Given the description of an element on the screen output the (x, y) to click on. 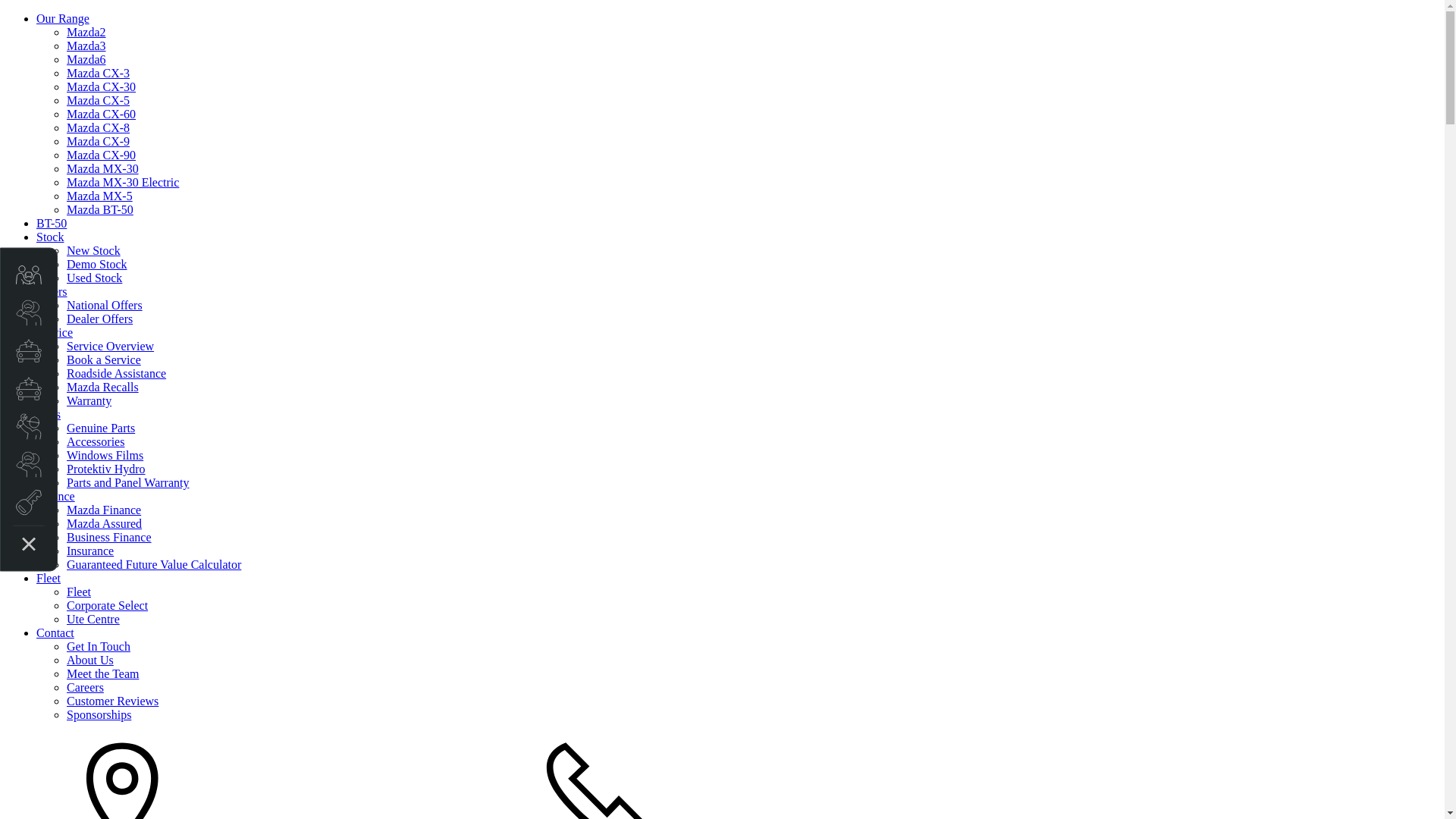
Demo Stock Element type: text (96, 263)
Roadside Assistance Element type: text (116, 373)
Warranty Element type: text (88, 400)
New Stock Element type: text (93, 250)
Mazda MX-30 Electric Element type: text (122, 181)
Customer Reviews Element type: text (112, 700)
Mazda BT-50 Element type: text (99, 209)
Careers Element type: text (84, 686)
Contact Element type: text (55, 632)
Windows Films Element type: text (104, 454)
Service Element type: text (54, 332)
Meet the Team Element type: text (102, 673)
Sponsorships Element type: text (98, 714)
Mazda2 Element type: text (86, 31)
Mazda CX-5 Element type: text (97, 100)
Mazda CX-30 Element type: text (100, 86)
Book a Service Element type: text (103, 359)
Genuine Parts Element type: text (100, 427)
Dealer Offers Element type: text (99, 318)
Finance Element type: text (55, 495)
Used Stock Element type: text (94, 277)
Fleet Element type: text (78, 591)
Stock Element type: text (49, 236)
Insurance Element type: text (89, 550)
Mazda CX-90 Element type: text (100, 154)
Offers Element type: text (51, 291)
Mazda Finance Element type: text (103, 509)
Mazda MX-5 Element type: text (99, 195)
Mazda Recalls Element type: text (102, 386)
Mazda6 Element type: text (86, 59)
Accessories Element type: text (95, 441)
Fleet Element type: text (48, 577)
Our Range Element type: text (62, 18)
Mazda3 Element type: text (86, 45)
Mazda Assured Element type: text (103, 523)
Parts and Panel Warranty Element type: text (127, 482)
Parts Element type: text (48, 413)
About Us Element type: text (89, 659)
Mazda MX-30 Element type: text (102, 168)
Mazda CX-3 Element type: text (97, 72)
Guaranteed Future Value Calculator Element type: text (153, 564)
Service Overview Element type: text (109, 345)
BT-50 Element type: text (51, 222)
Ute Centre Element type: text (92, 618)
Corporate Select Element type: text (106, 605)
Mazda CX-9 Element type: text (97, 140)
Business Finance Element type: text (108, 536)
Mazda CX-8 Element type: text (97, 127)
Protektiv Hydro Element type: text (105, 468)
National Offers Element type: text (104, 304)
Mazda CX-60 Element type: text (100, 113)
Get In Touch Element type: text (98, 646)
